Given the description of an element on the screen output the (x, y) to click on. 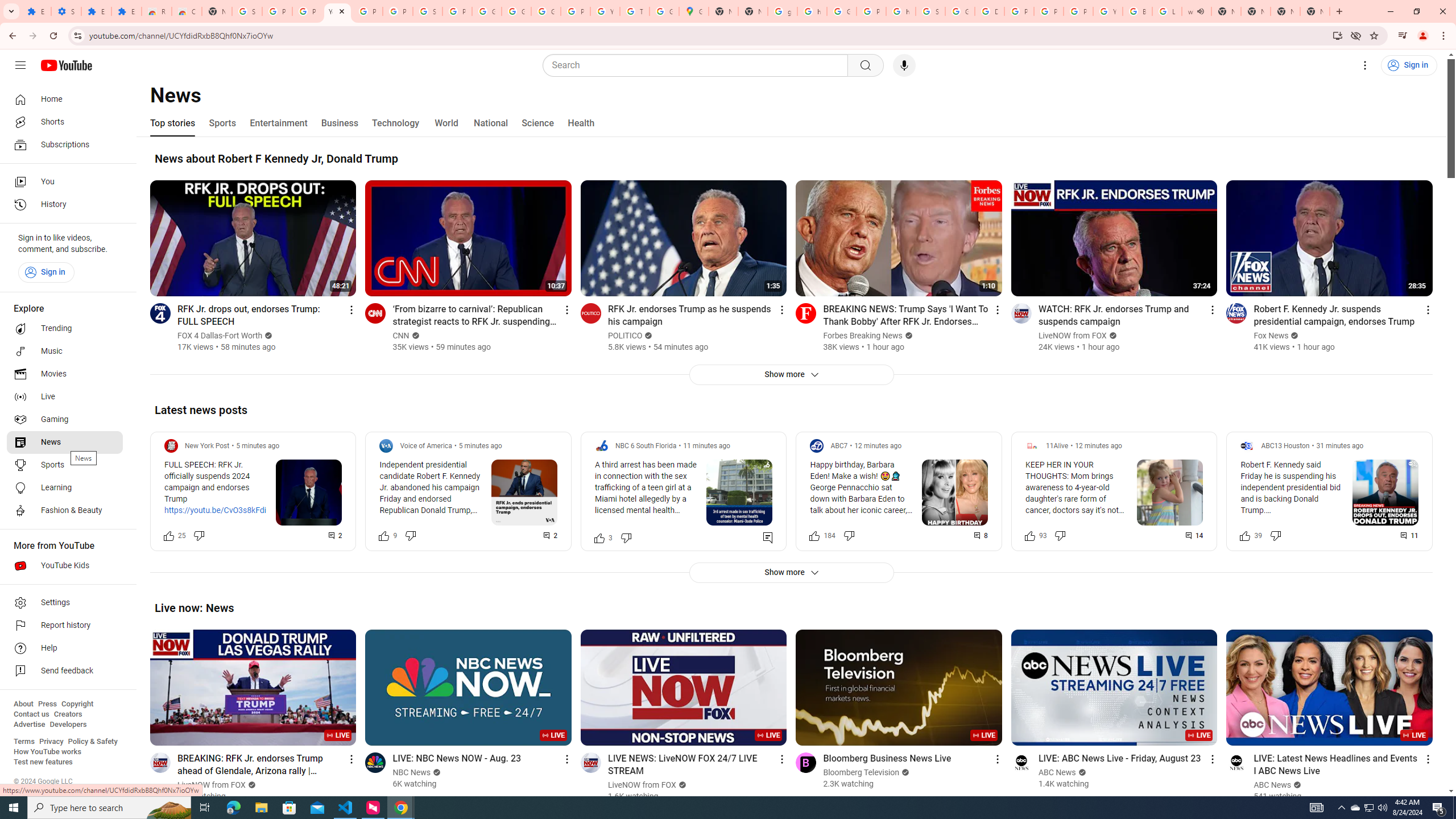
Show more (790, 572)
POLITICO (625, 335)
Sports (64, 464)
11Alive (1056, 445)
Dislike this post (1275, 534)
Entertainment (277, 122)
Google Account (515, 11)
LiveNOW from FOX (642, 784)
Like this post along with 184 other people (814, 534)
Top stories (172, 122)
